Given the description of an element on the screen output the (x, y) to click on. 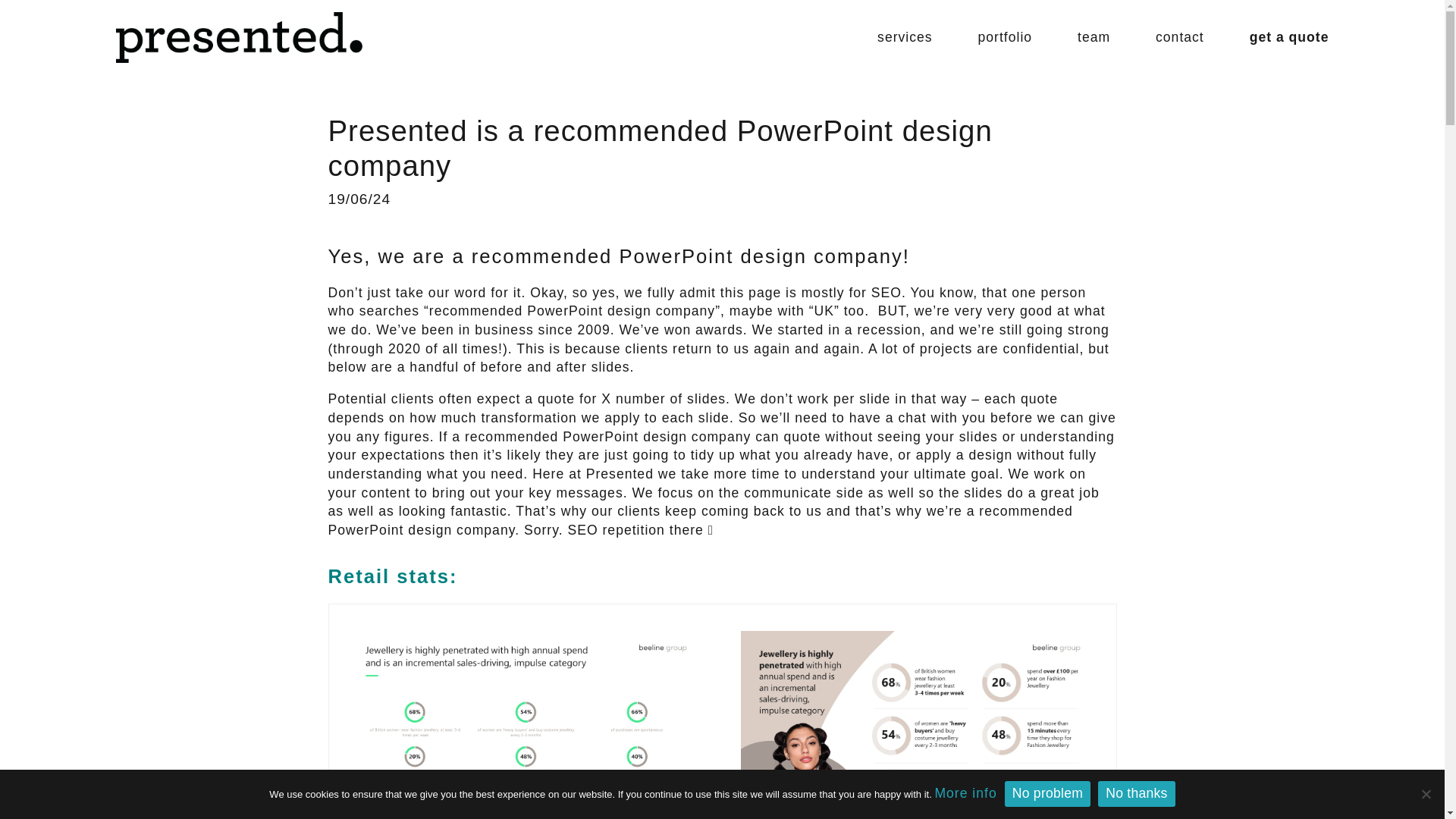
services (905, 36)
Presented is a recommended PowerPoint design company 2 (918, 724)
Presented is a recommended PowerPoint design company 1 (525, 724)
get a quote (1289, 36)
team (1093, 36)
portfolio (1005, 36)
contact (1180, 36)
